Given the description of an element on the screen output the (x, y) to click on. 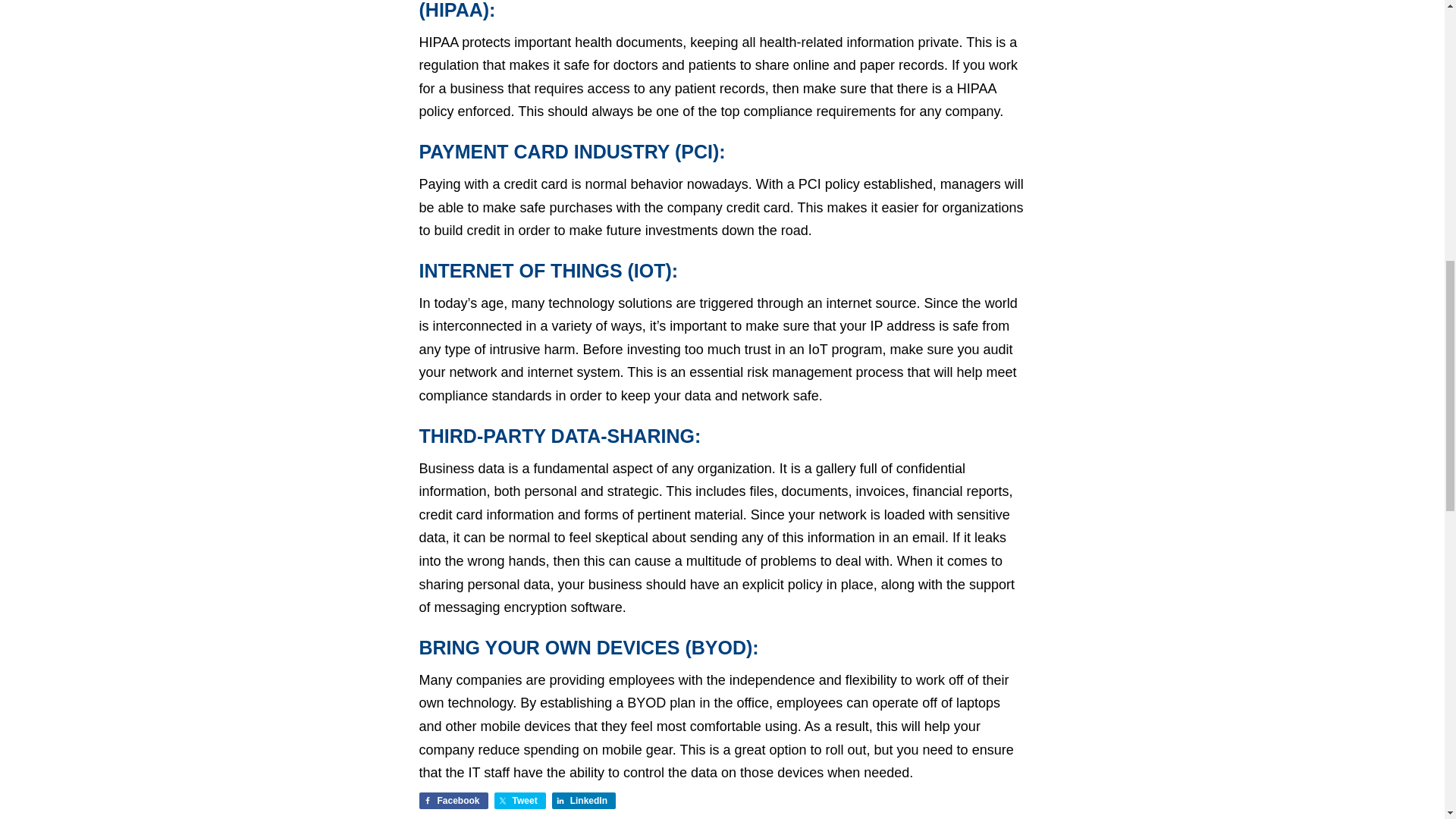
Share on Facebook (453, 800)
Share on Twitter (520, 800)
Share on LinkedIn (583, 800)
